Given the description of an element on the screen output the (x, y) to click on. 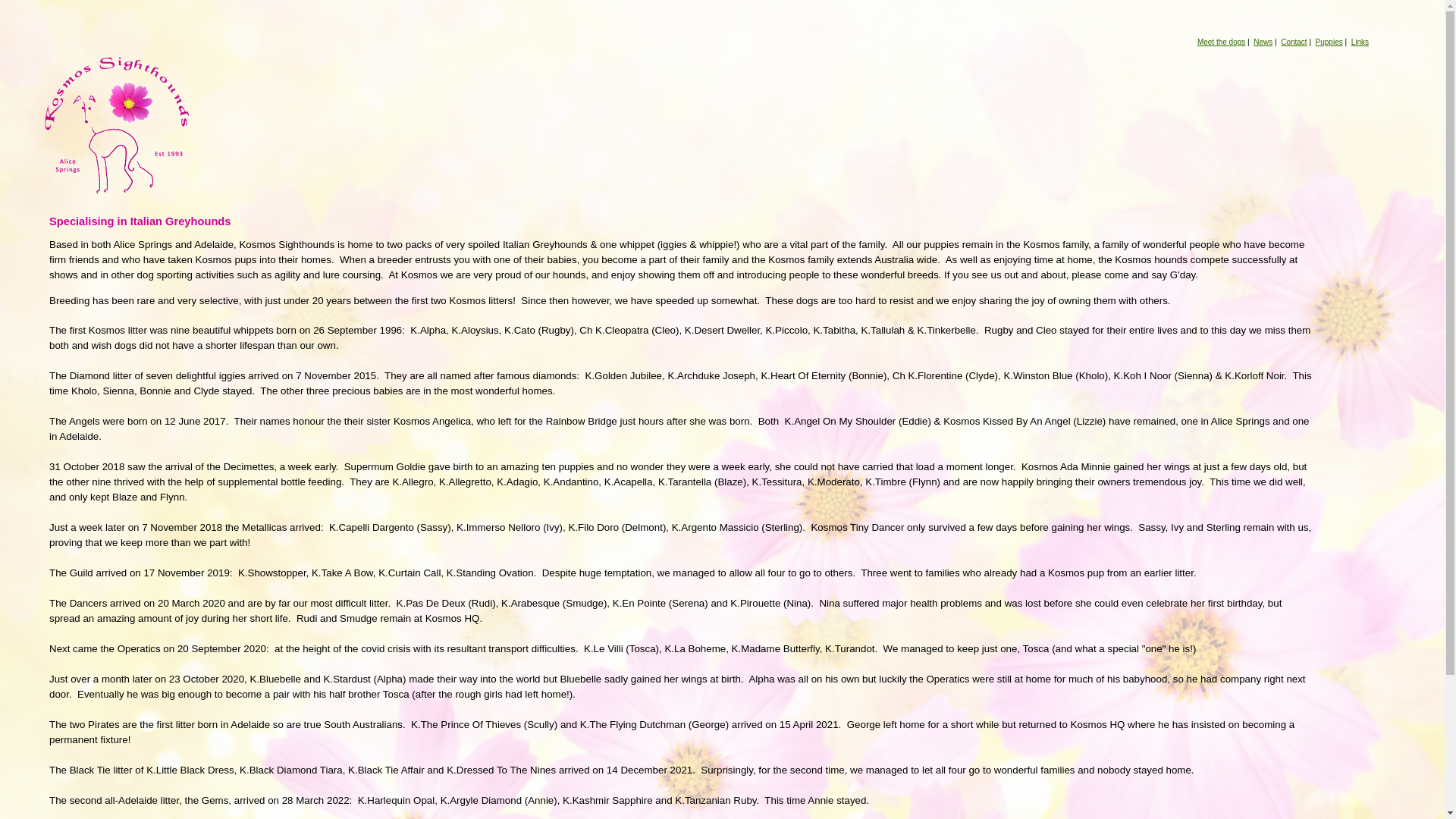
Meet the dogs Element type: text (1221, 41)
News Element type: text (1262, 41)
Puppies Element type: text (1329, 41)
Links Element type: text (1359, 41)
Contact Element type: text (1293, 41)
